Given the description of an element on the screen output the (x, y) to click on. 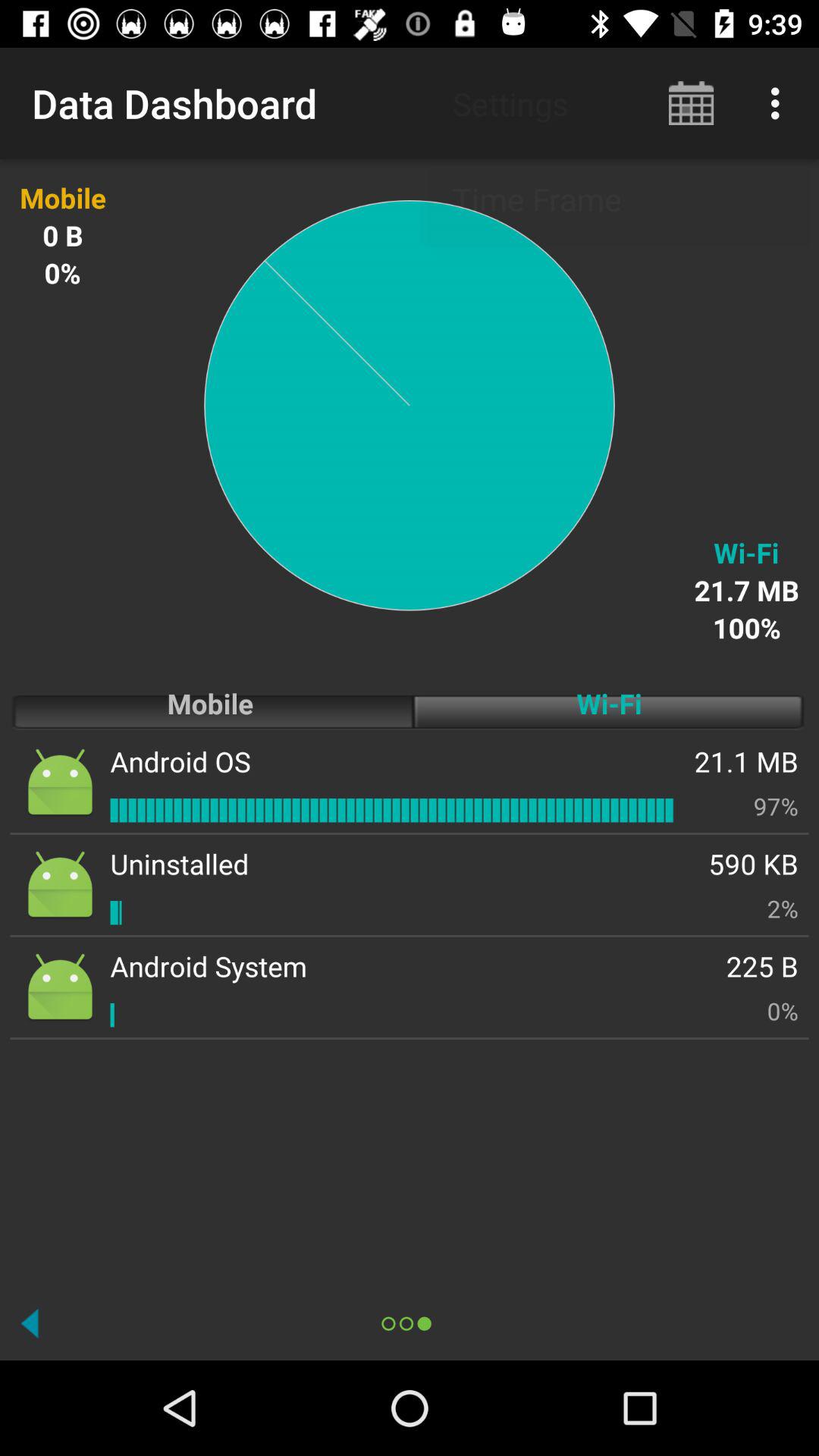
choose the item above the 0% item (762, 966)
